Given the description of an element on the screen output the (x, y) to click on. 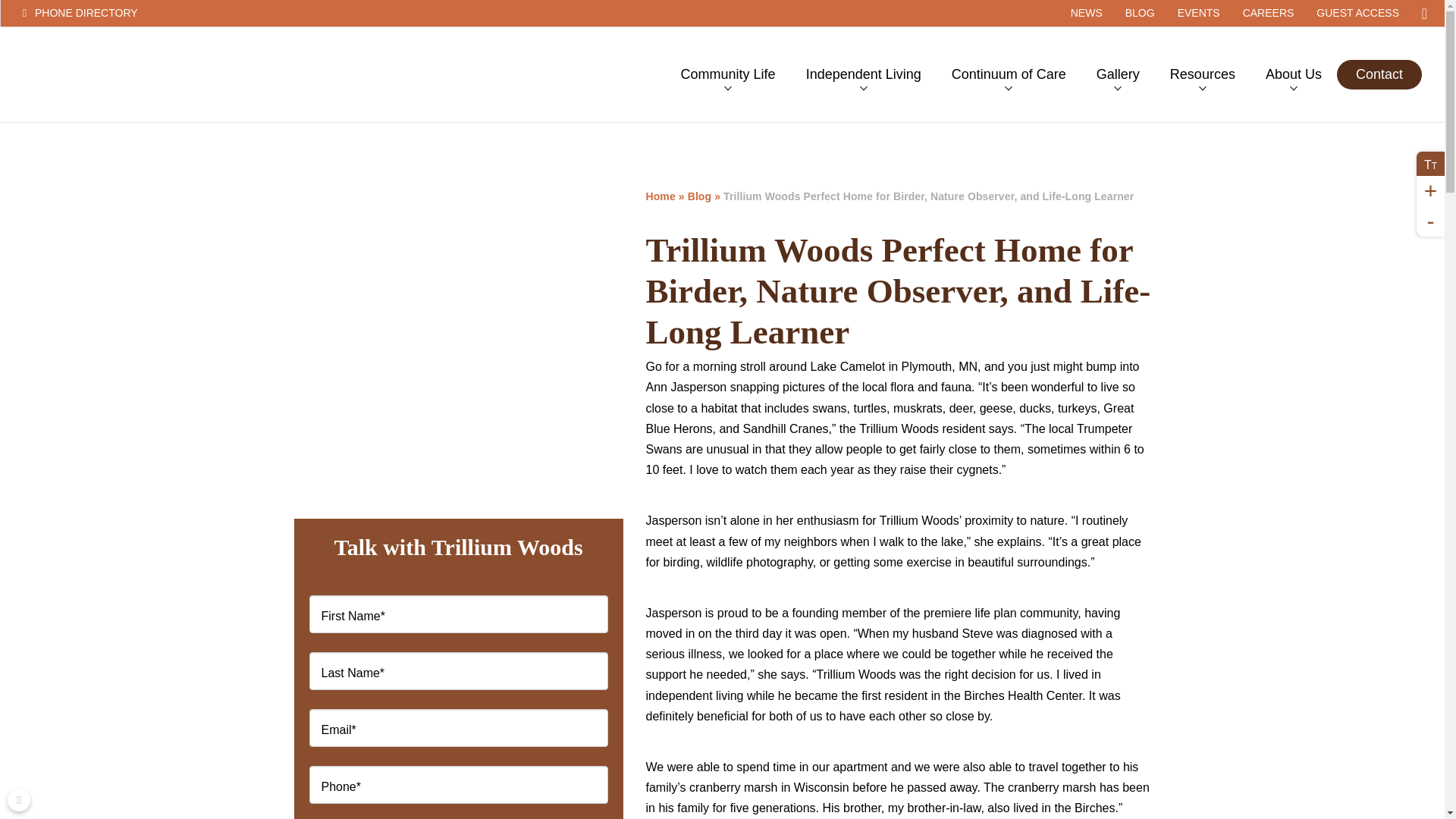
Contact (1379, 74)
BLOG (1139, 13)
PHONE DIRECTORY (132, 13)
Community Life (727, 74)
CAREERS (1268, 13)
About Us (1293, 74)
Resources (1202, 74)
GUEST ACCESS (1357, 13)
Continuum of Care (1008, 74)
EVENTS (1198, 13)
